Given the description of an element on the screen output the (x, y) to click on. 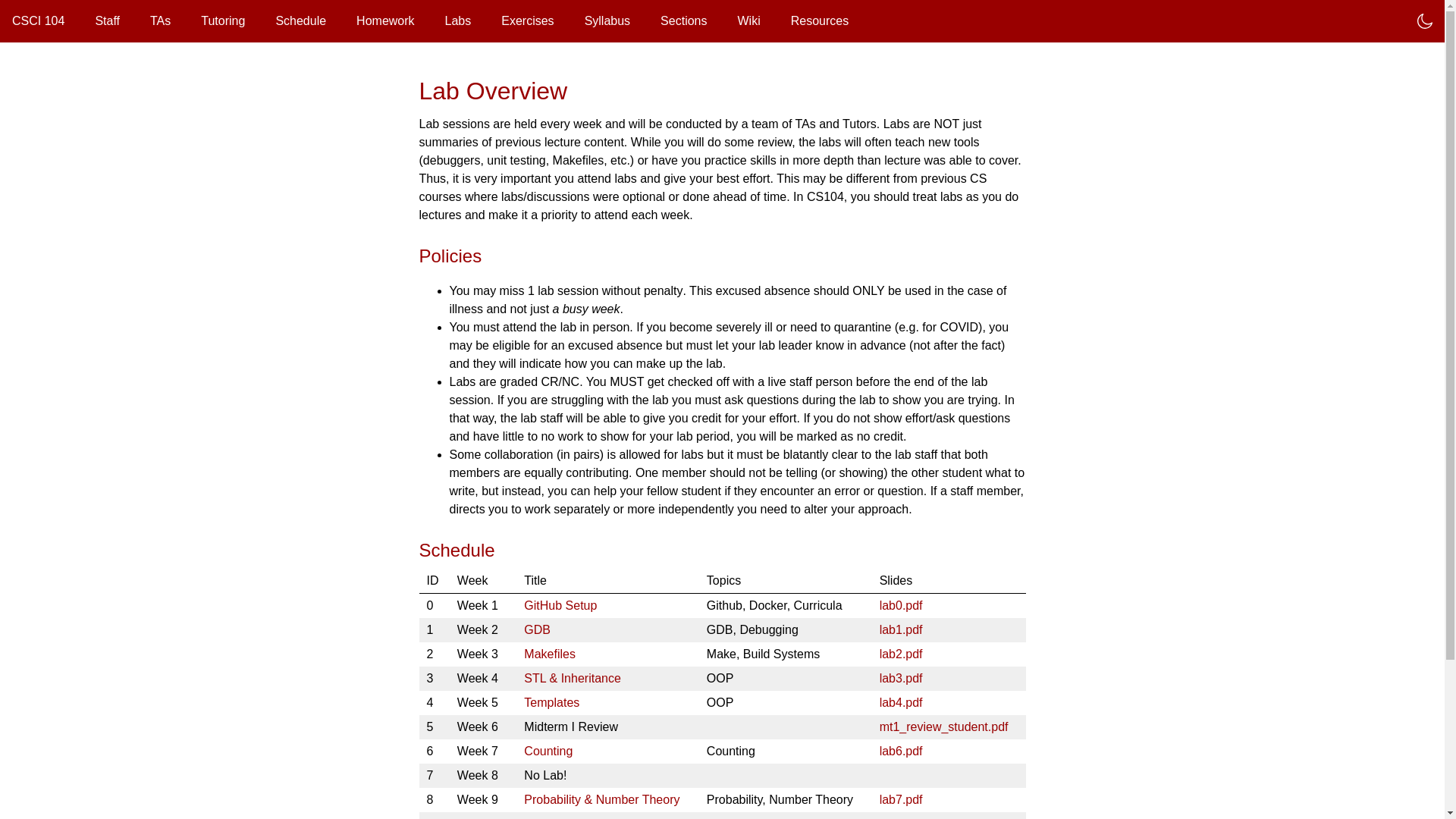
lab6.pdf (901, 750)
lab4.pdf (901, 702)
lab2.pdf (901, 653)
lab3.pdf (901, 677)
lab7.pdf (901, 799)
GDB (537, 629)
Makefiles (549, 653)
Staff (106, 20)
TAs (159, 20)
lab1.pdf (901, 629)
Wiki (748, 20)
Templates (551, 702)
Counting (548, 750)
GitHub Setup (560, 604)
Hashtables (554, 818)
